Given the description of an element on the screen output the (x, y) to click on. 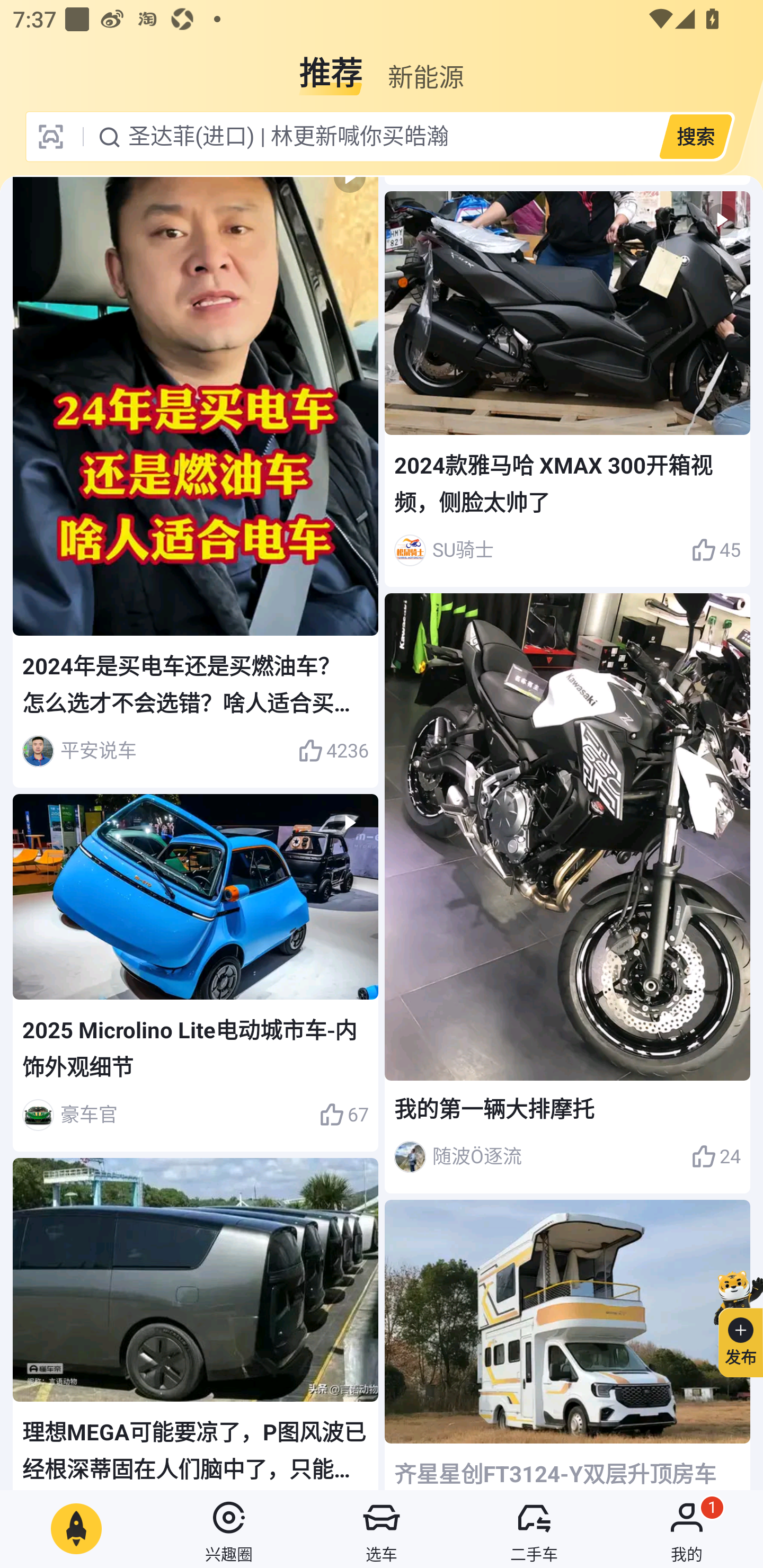
推荐 (330, 65)
新能源 (425, 65)
搜索 (695, 136)
 2024款雅马哈 XMAX 300开箱视频，侧脸太帅了 SU骑士 45 (567, 388)
45 (715, 549)
我的第一辆大排摩托 随波Ö逐流 24 (567, 892)
4236 (332, 750)
 2025 Microlino Lite电动城市车-内饰外观细节 豪车官 67 (195, 971)
67 (343, 1114)
24 (715, 1156)
齐星星创FT3124-Y双层升顶房车 露台+全顺T8 一升一拓奢享阔绰空间 (567, 1344)
发布 (732, 1321)
 兴趣圈 (228, 1528)
 选车 (381, 1528)
 二手车 (533, 1528)
 我的 (686, 1528)
